Given the description of an element on the screen output the (x, y) to click on. 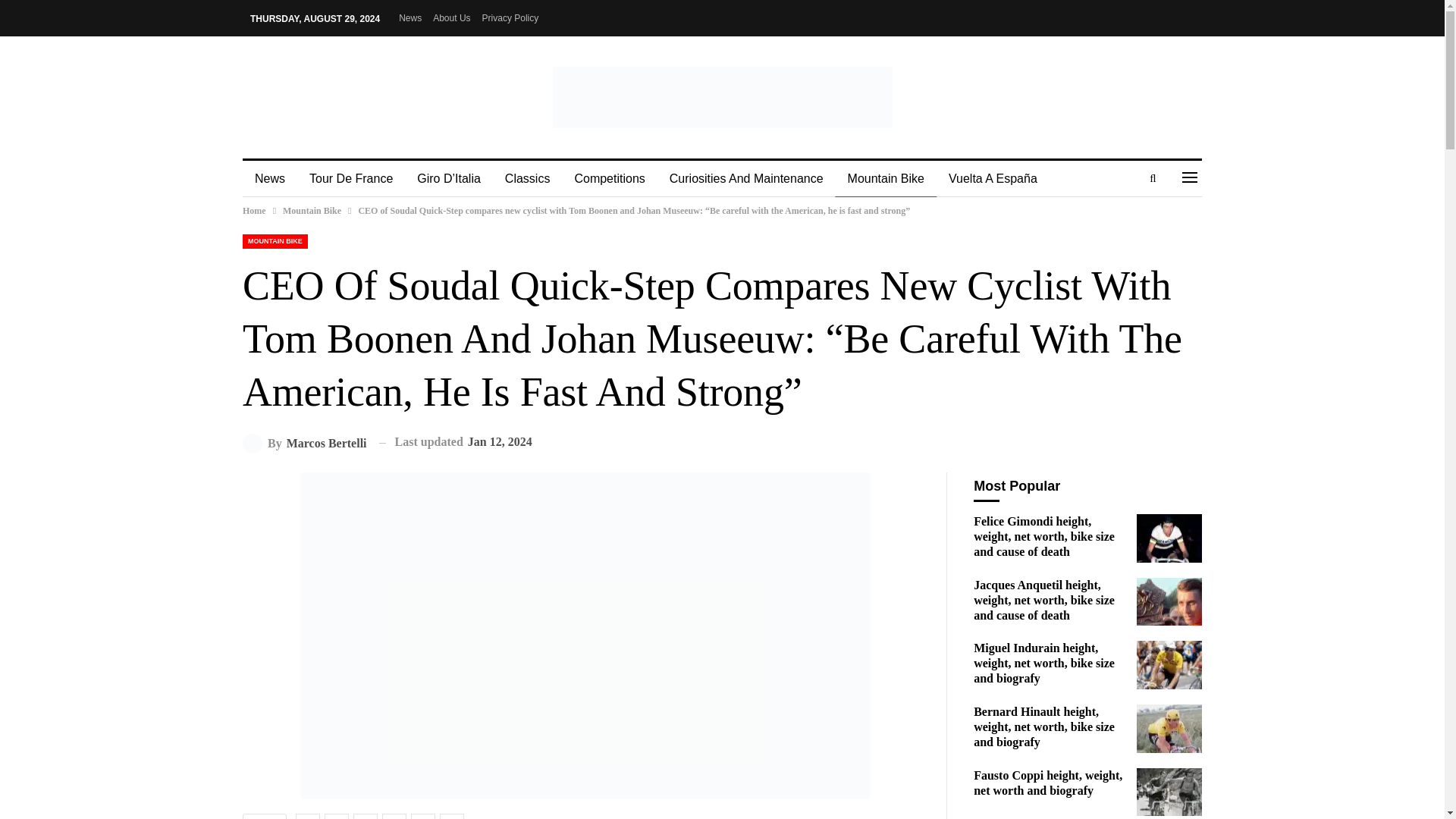
Home (254, 210)
About Us (451, 18)
Mountain Bike (885, 178)
Mountain Bike (311, 210)
Browse Author Articles (304, 442)
Competitions (609, 178)
News (270, 178)
MOUNTAIN BIKE (275, 240)
Curiosities And Maintenance (746, 178)
Tour De France (350, 178)
